Given the description of an element on the screen output the (x, y) to click on. 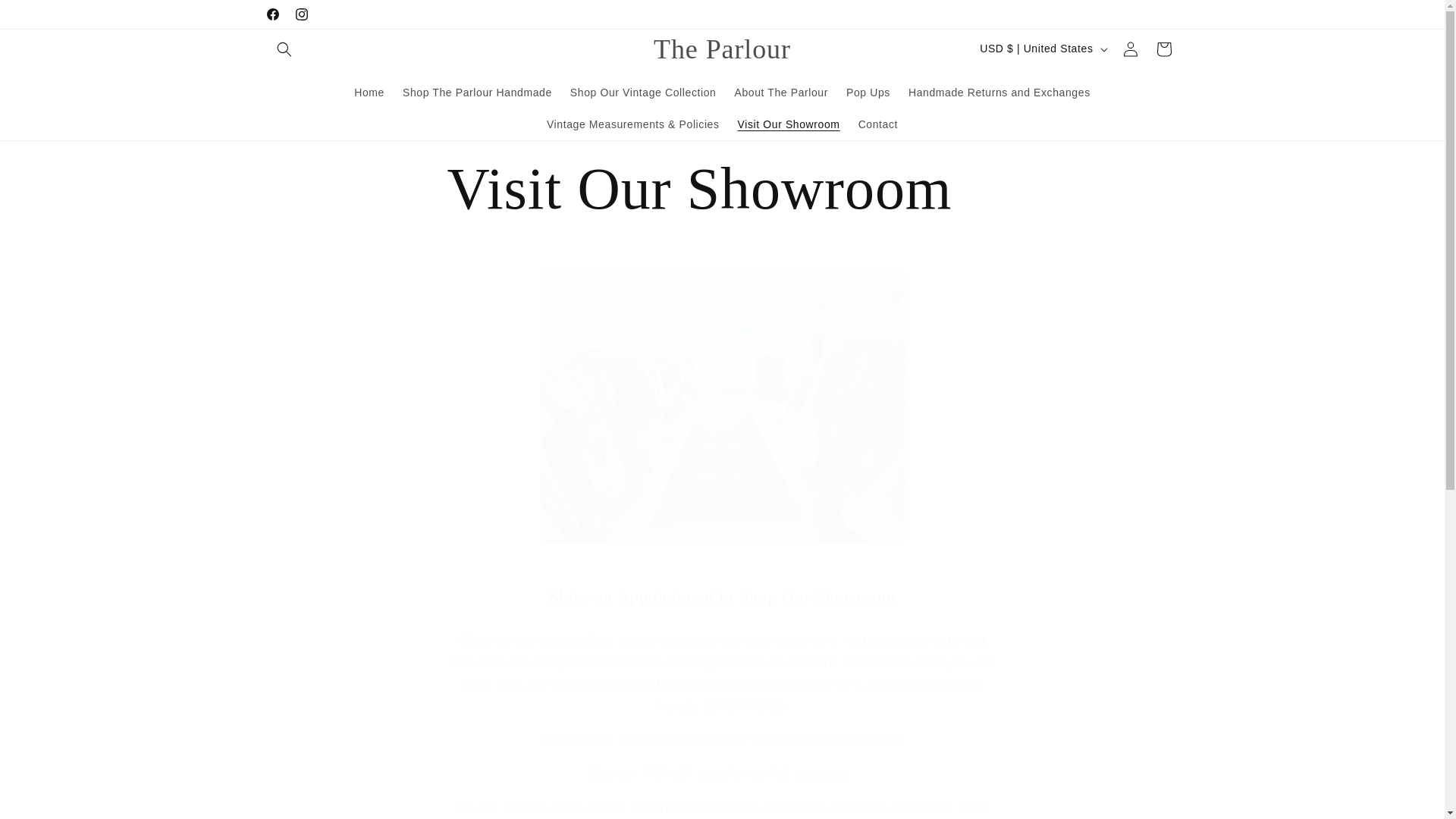
Visit Our Showroom (788, 124)
The Parlour (721, 48)
Log in (1130, 48)
Shop The Parlour Handmade (476, 91)
Cart (1163, 48)
Shop Our Vintage Collection (642, 91)
Handmade Returns and Exchanges (999, 91)
Visit Our Showroom (721, 188)
Pop Ups (868, 91)
